Given the description of an element on the screen output the (x, y) to click on. 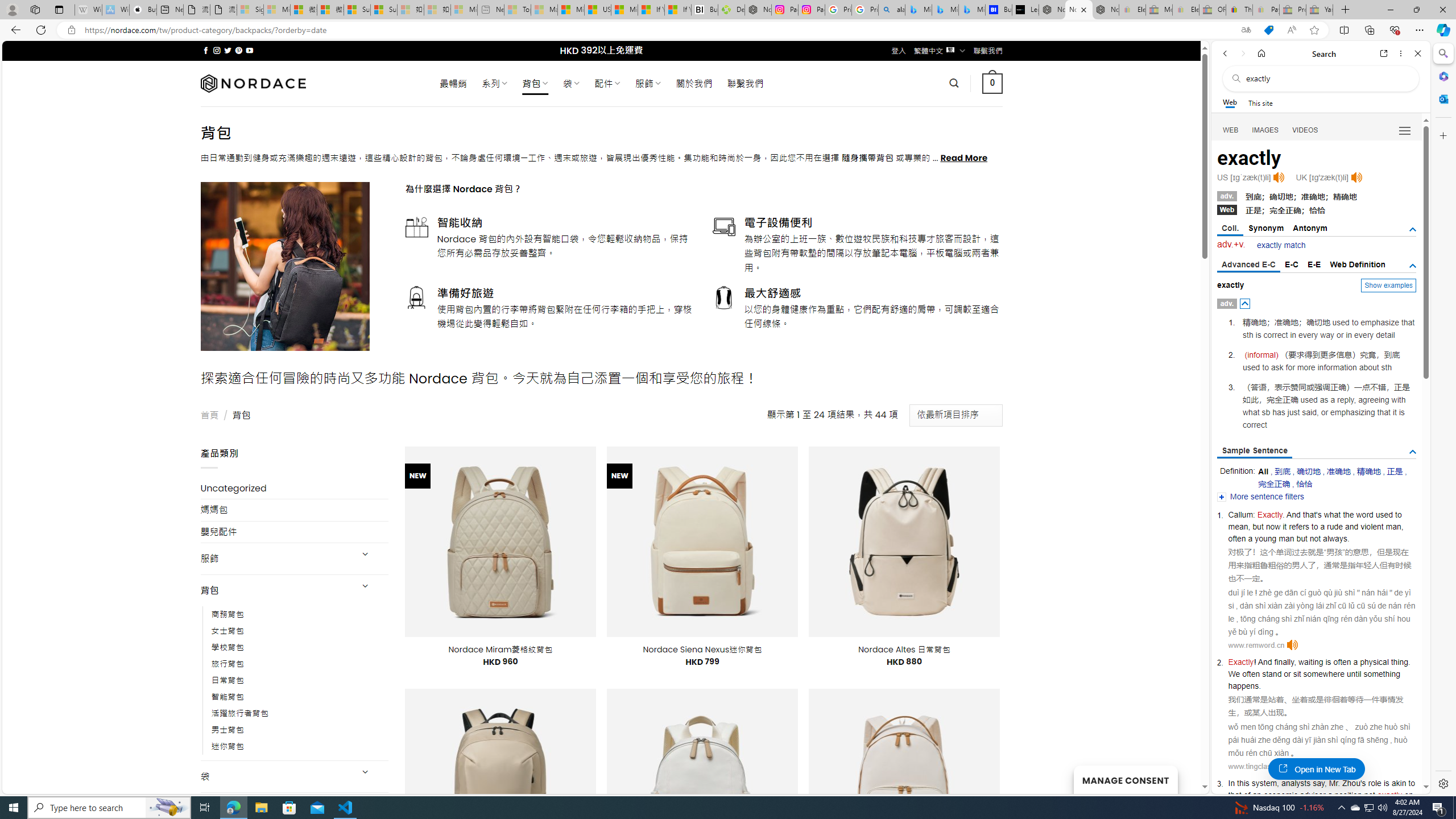
Descarga Driver Updater (731, 9)
AutomationID: tgdef (1412, 265)
say (1318, 782)
AutomationID: posbtn_0 (1245, 303)
